Given the description of an element on the screen output the (x, y) to click on. 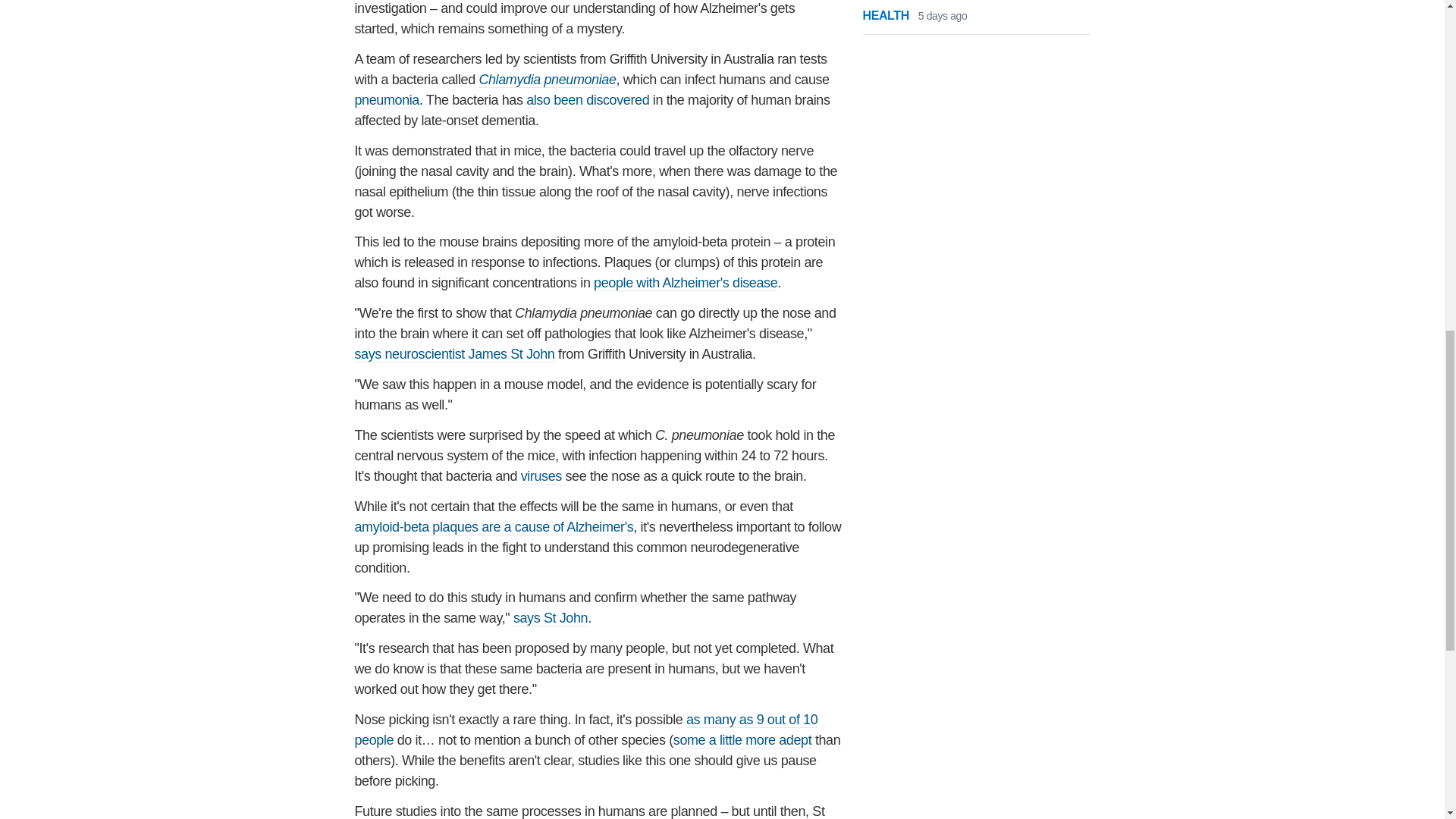
amyloid-beta plaques are a cause of Alzheimer's (494, 527)
also been discovered (587, 100)
people with Alzheimer's disease (685, 283)
says neuroscientist James St John (454, 354)
Chlamydia pneumoniae (547, 79)
says St John (550, 618)
pneumonia (387, 100)
viruses (541, 476)
